Given the description of an element on the screen output the (x, y) to click on. 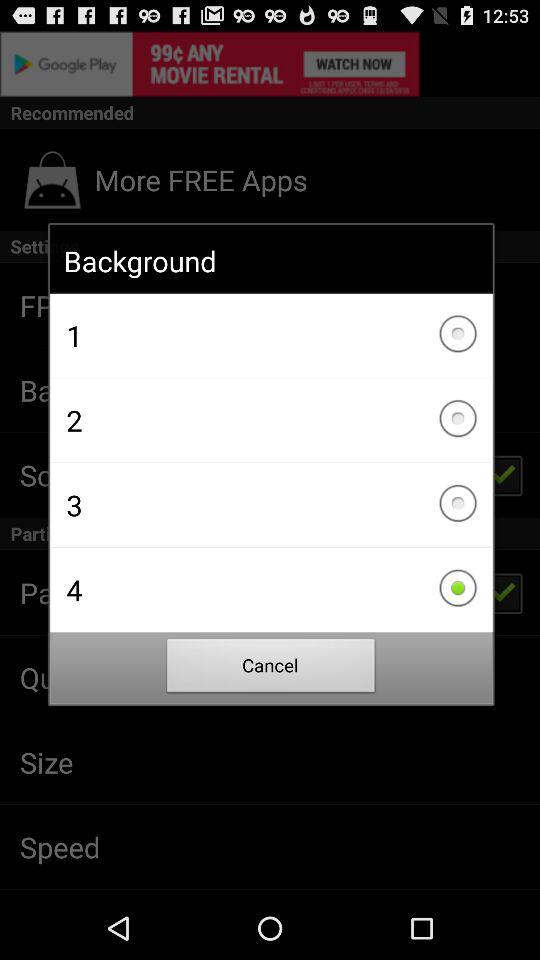
tap cancel item (271, 668)
